Given the description of an element on the screen output the (x, y) to click on. 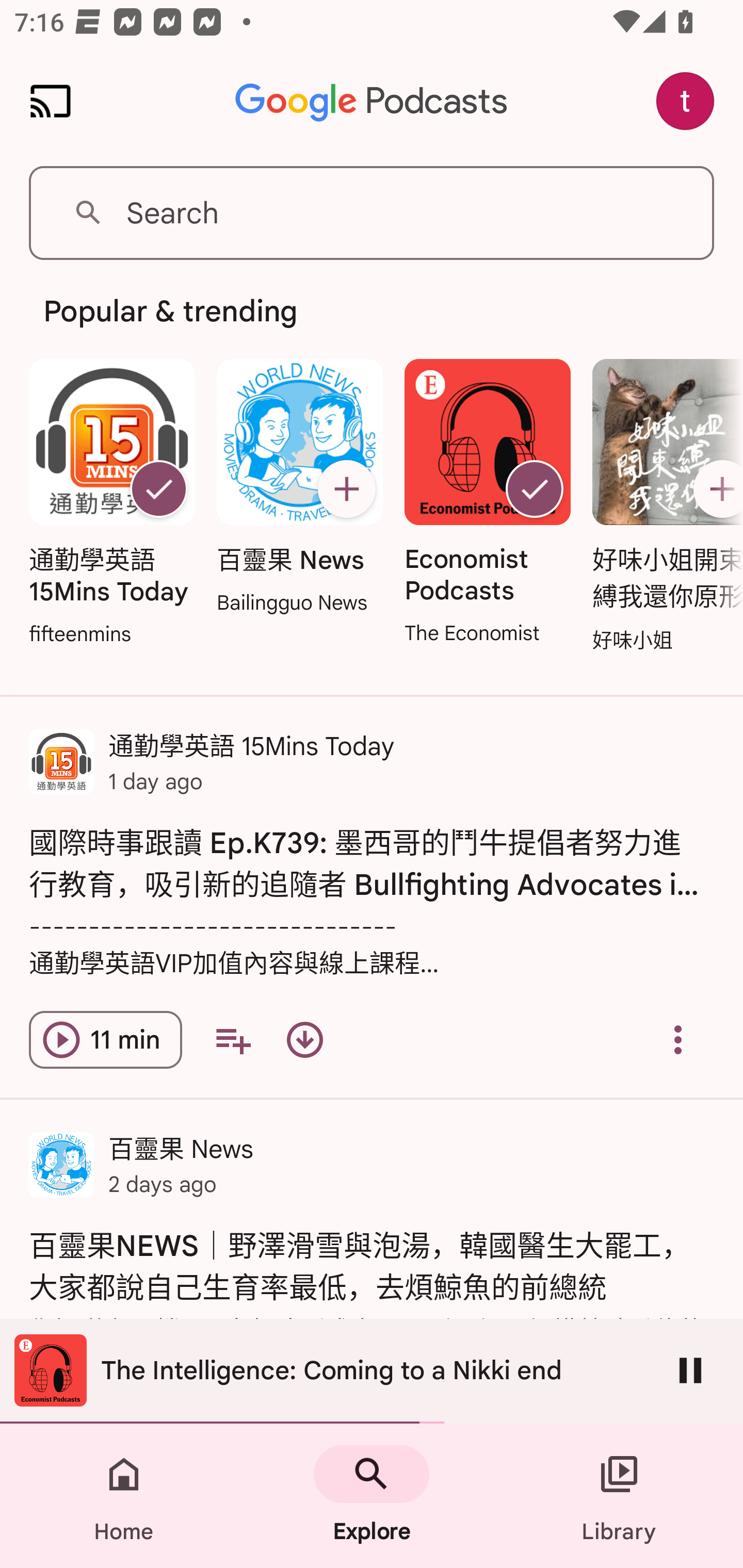
Cast. Disconnected (50, 101)
Search (371, 212)
百靈果 News Subscribe 百靈果 News Bailingguo News (299, 488)
好味小姐開束縛我還你原形 Subscribe 好味小姐開束縛我還你原形 好味小姐 (662, 507)
Unsubscribe (158, 489)
Subscribe (346, 489)
Unsubscribe (534, 489)
Subscribe (714, 489)
Add to your queue (232, 1040)
Download episode (304, 1040)
Overflow menu (677, 1040)
Pause (690, 1370)
Home (123, 1495)
Library (619, 1495)
